Given the description of an element on the screen output the (x, y) to click on. 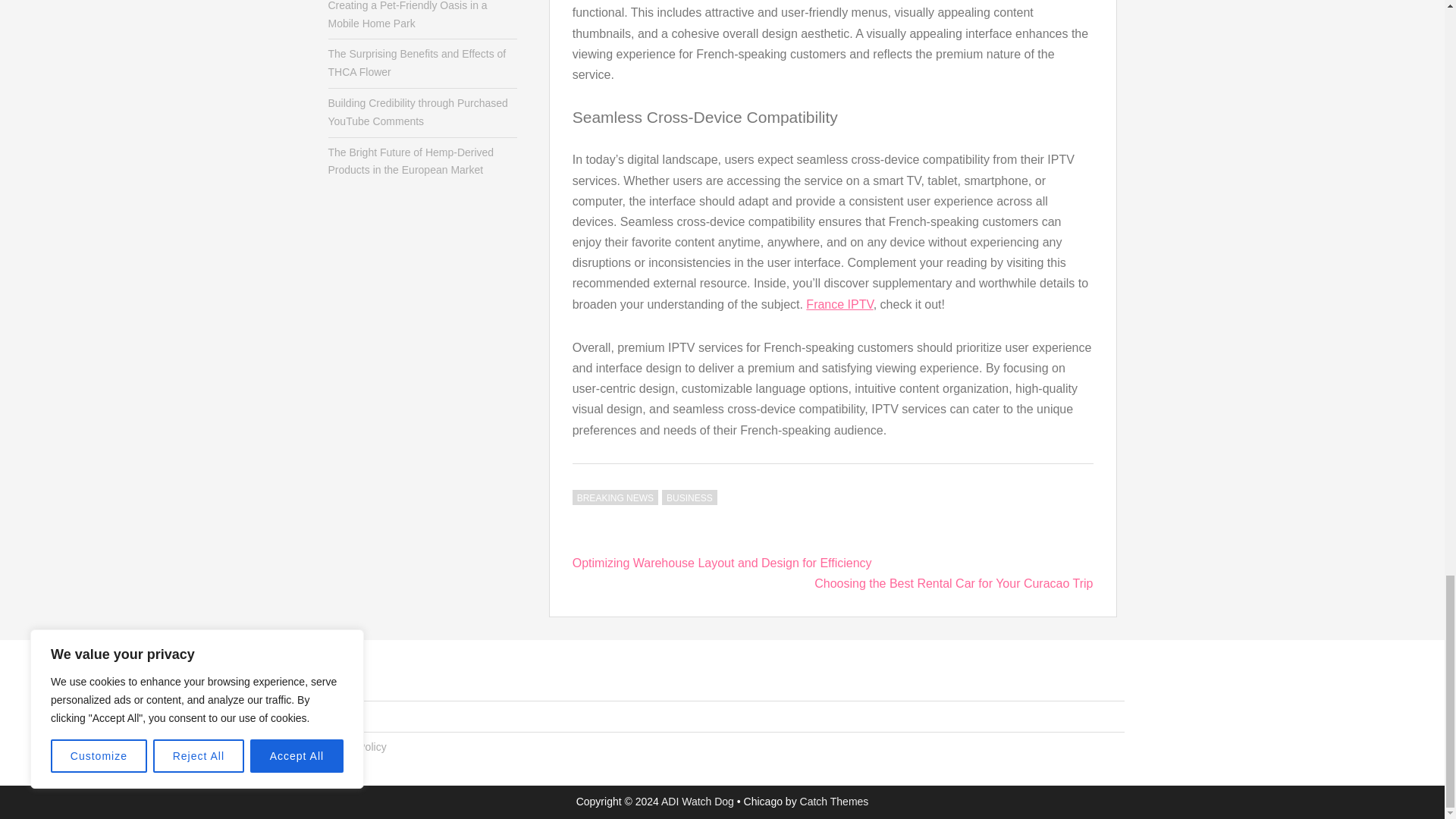
France IPTV (839, 304)
Optimizing Warehouse Layout and Design for Efficiency (722, 562)
BREAKING NEWS (615, 497)
Choosing the Best Rental Car for Your Curacao Trip (953, 583)
BUSINESS (689, 497)
